Given the description of an element on the screen output the (x, y) to click on. 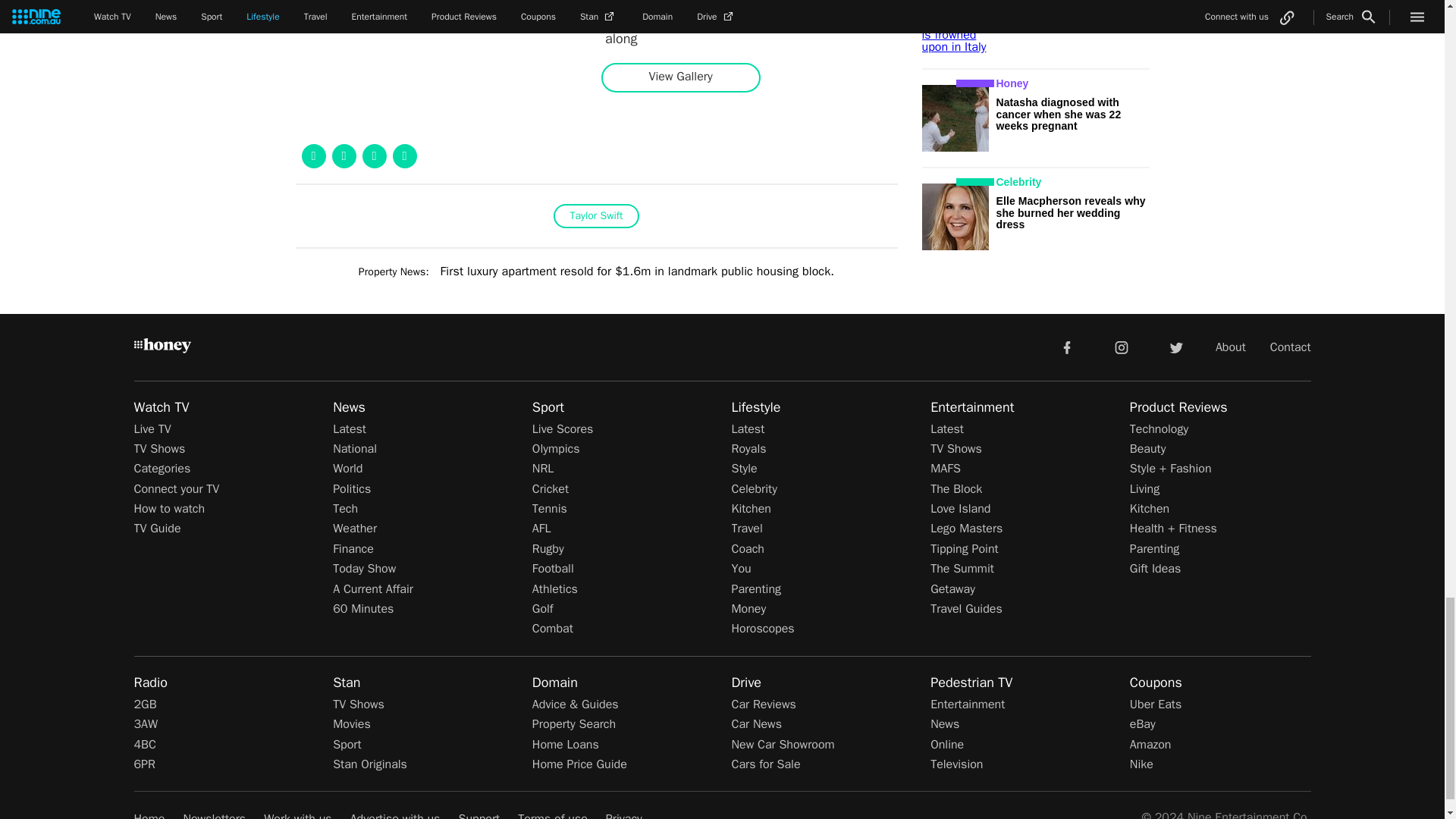
twitter (1175, 346)
facebook (1066, 346)
instagram (1121, 346)
View Gallery (680, 76)
